Given the description of an element on the screen output the (x, y) to click on. 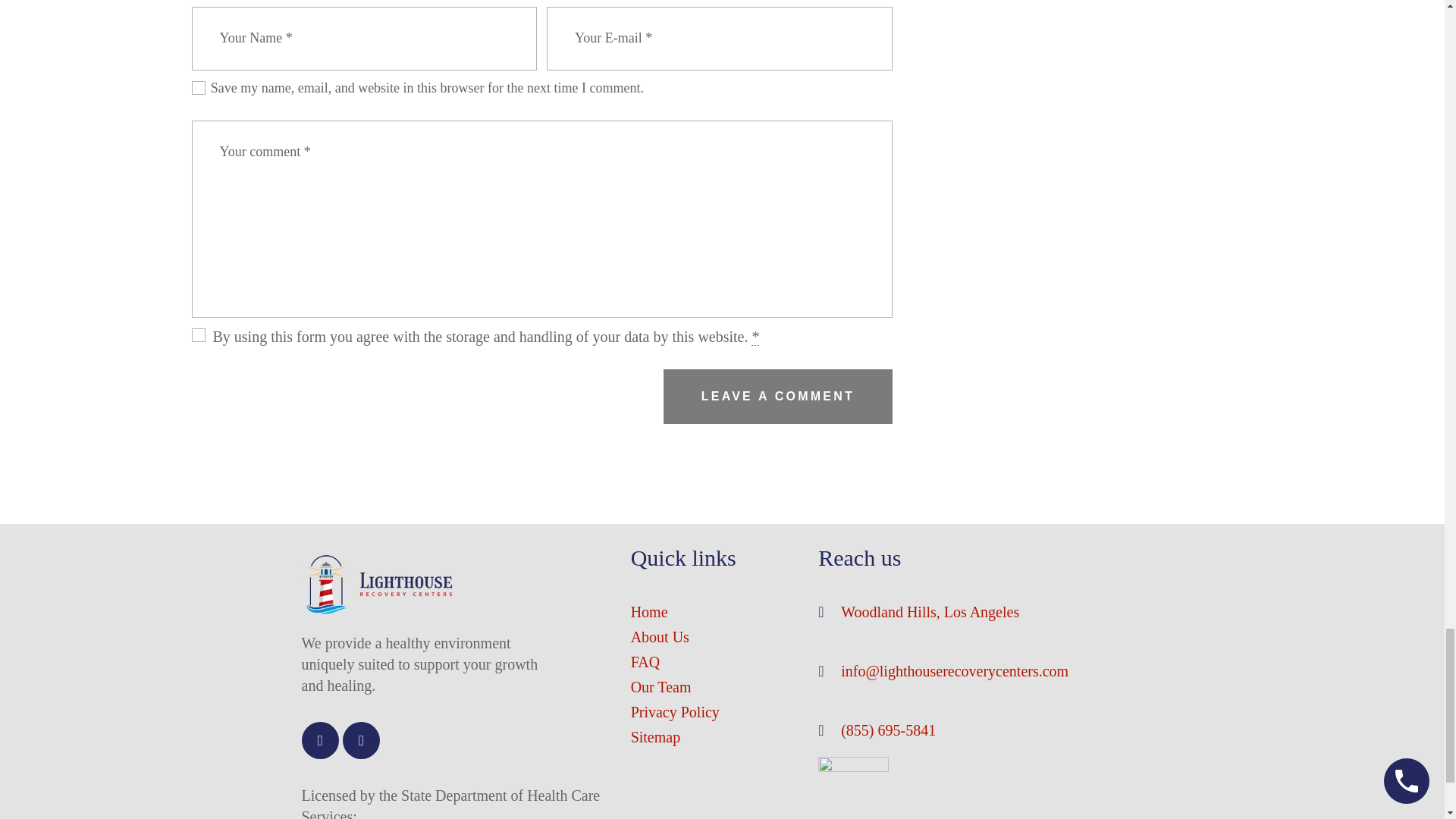
Leave a comment (777, 396)
